Given the description of an element on the screen output the (x, y) to click on. 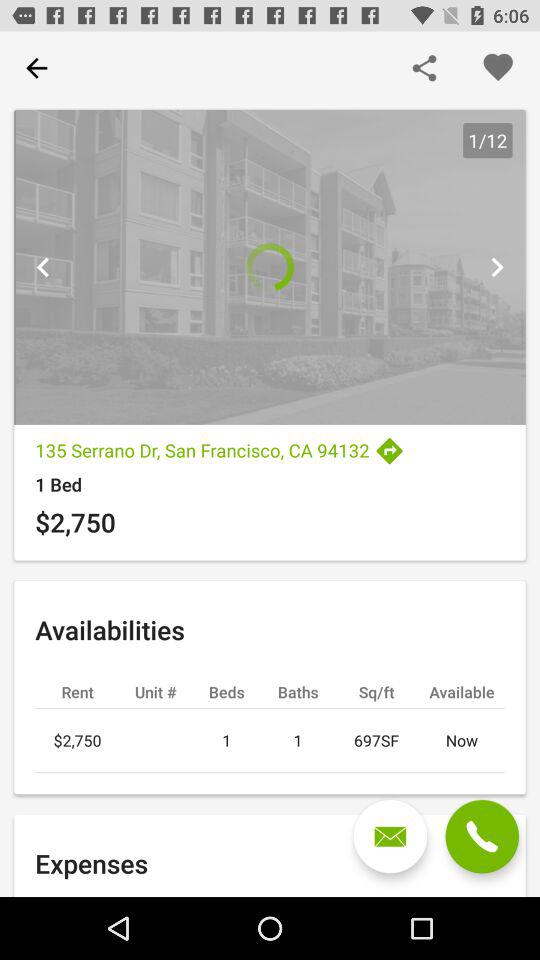
go to previous (43, 267)
